Given the description of an element on the screen output the (x, y) to click on. 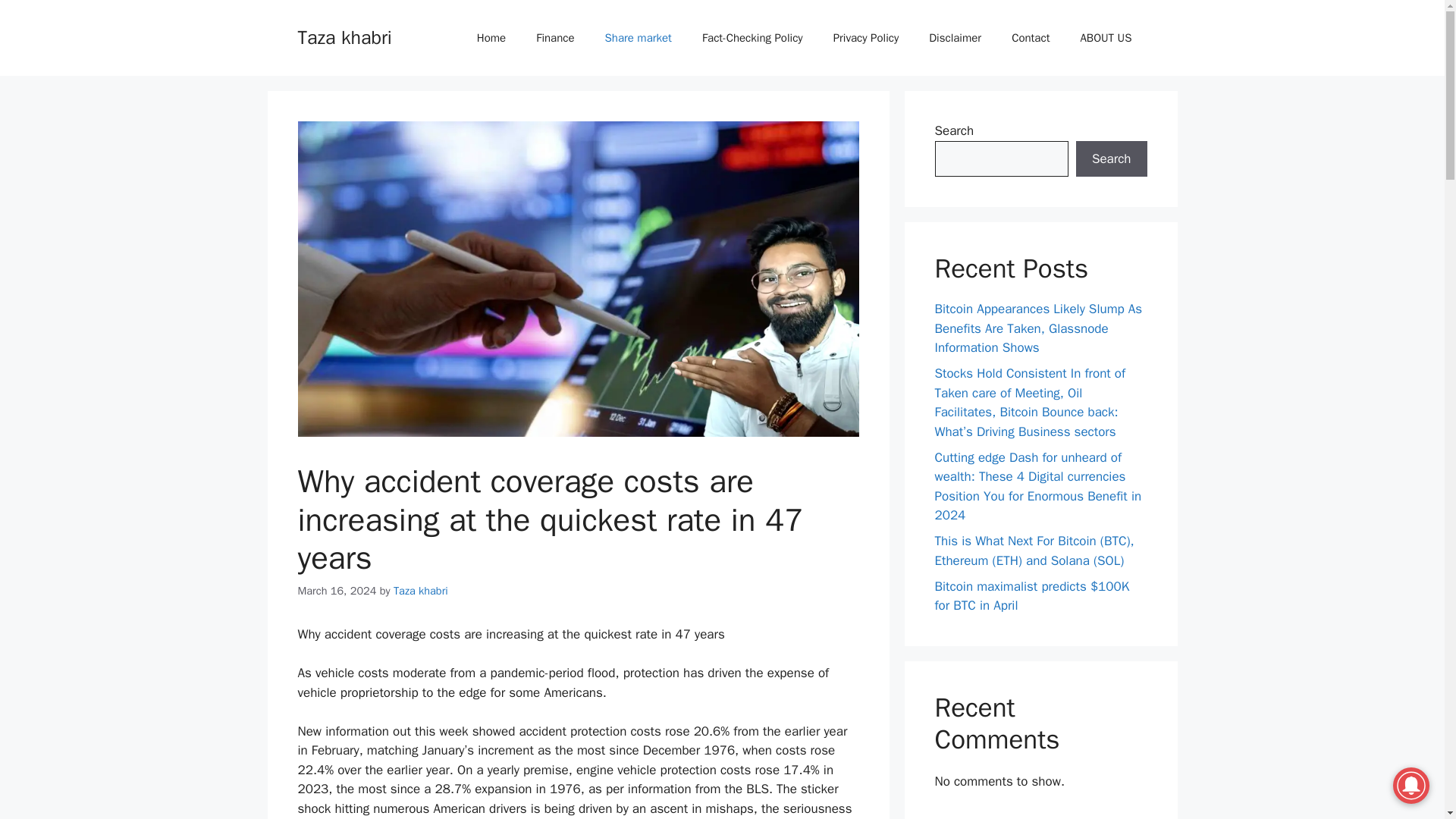
Taza khabri (420, 590)
ABOUT US (1105, 37)
Fact-Checking Policy (752, 37)
Contact (1029, 37)
Taza khabri (344, 37)
View all posts by Taza khabri (420, 590)
Privacy Policy (866, 37)
Finance (555, 37)
Share market (638, 37)
Search (1111, 158)
Disclaimer (954, 37)
Home (491, 37)
